Given the description of an element on the screen output the (x, y) to click on. 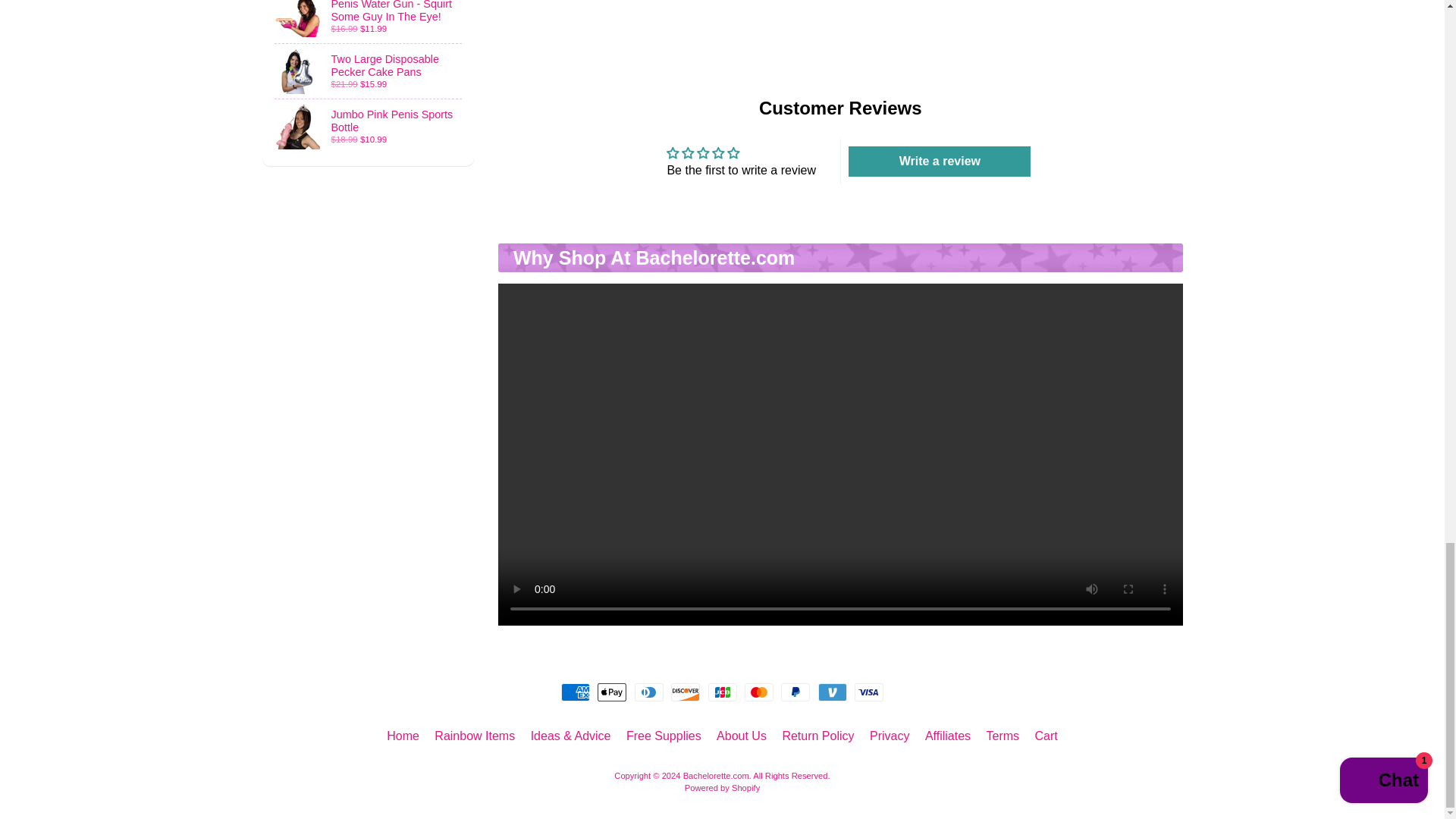
Discover (685, 692)
Mastercard (758, 692)
American Express (574, 692)
PayPal (794, 692)
Two Large Disposable Pecker Cake Pans (369, 71)
Venmo (832, 692)
JCB (721, 692)
Visa (868, 692)
Diners Club (648, 692)
Apple Pay (611, 692)
Penis Water Gun - Squirt Some Guy In The Eye! (369, 21)
Jumbo Pink Penis Sports Bottle (369, 126)
